Given the description of an element on the screen output the (x, y) to click on. 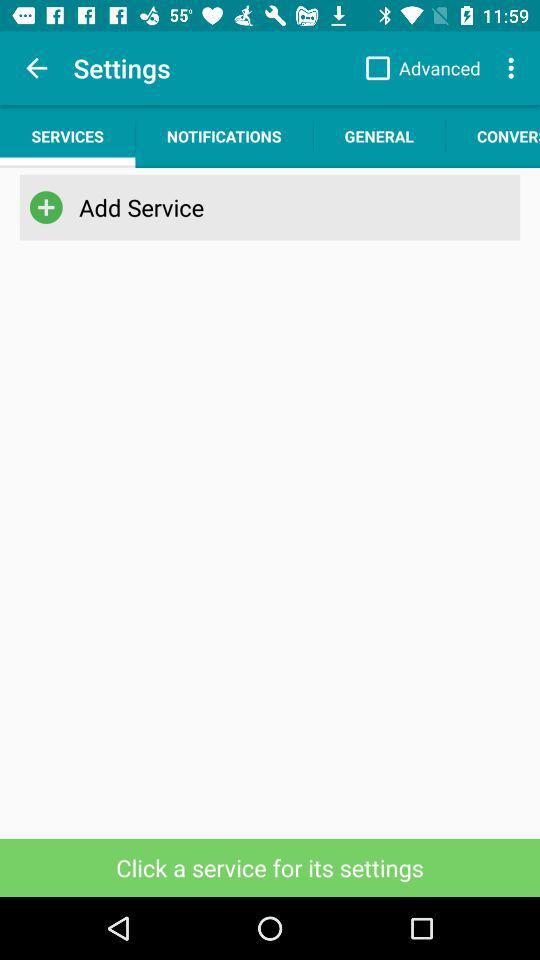
turn off app next to settings (418, 68)
